Given the description of an element on the screen output the (x, y) to click on. 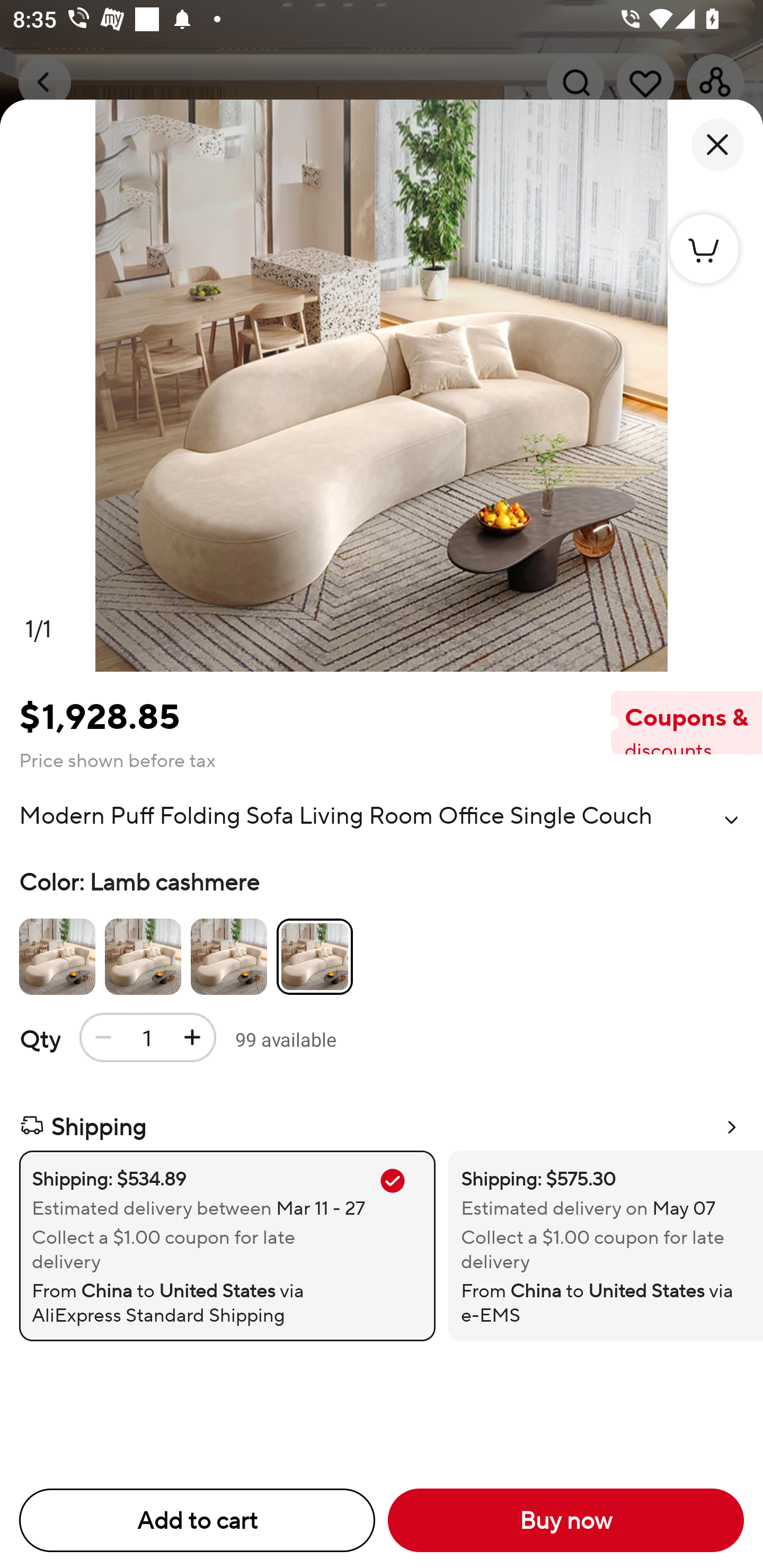
close  (717, 144)
 (730, 819)
Add to cart (197, 1520)
Buy now (565, 1520)
